Given the description of an element on the screen output the (x, y) to click on. 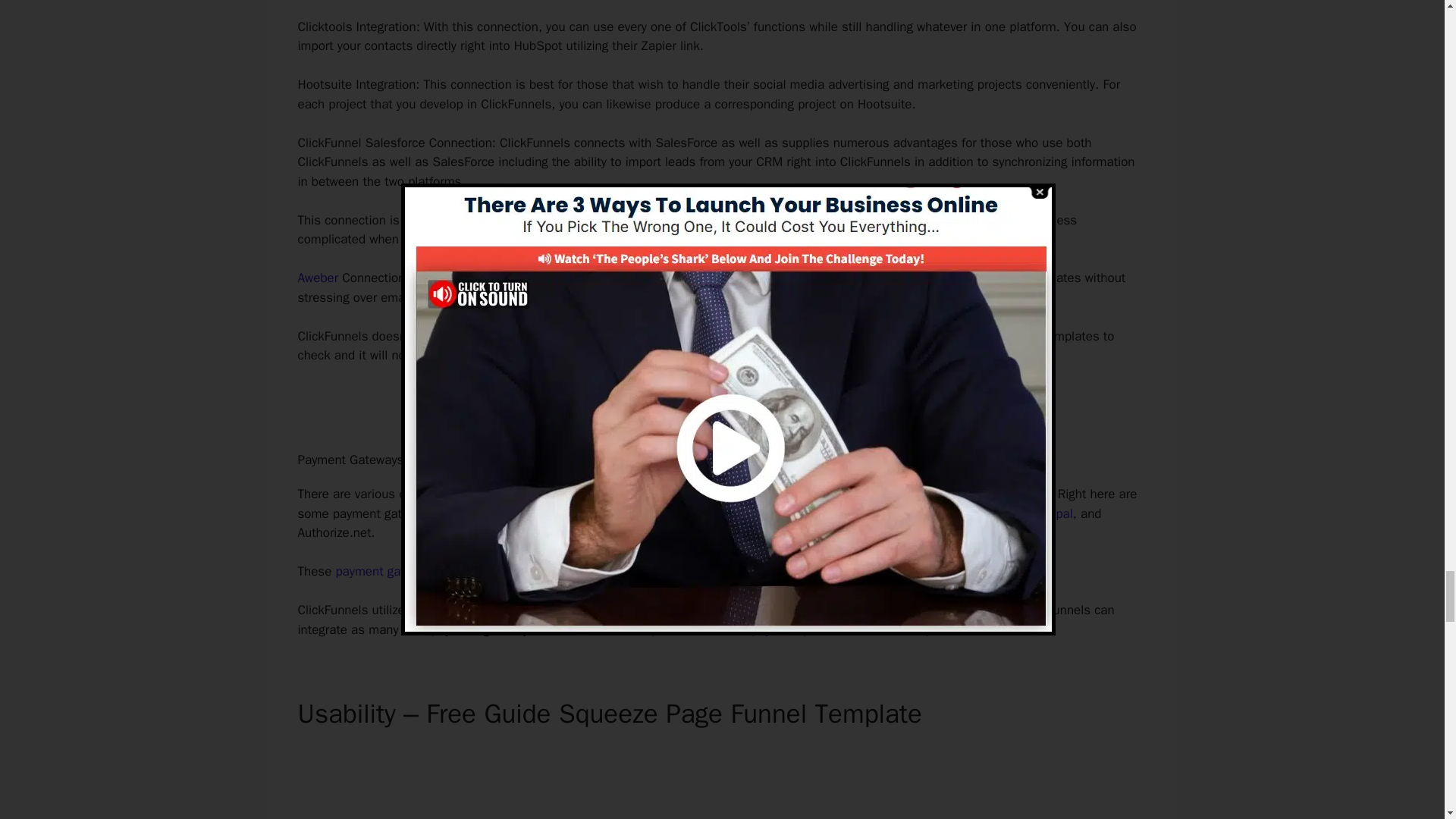
Aweber (317, 277)
payment portals (797, 629)
Paypal (1054, 513)
Stripe (1012, 513)
payment gateways (386, 571)
View Complete Integrations (722, 407)
